Given the description of an element on the screen output the (x, y) to click on. 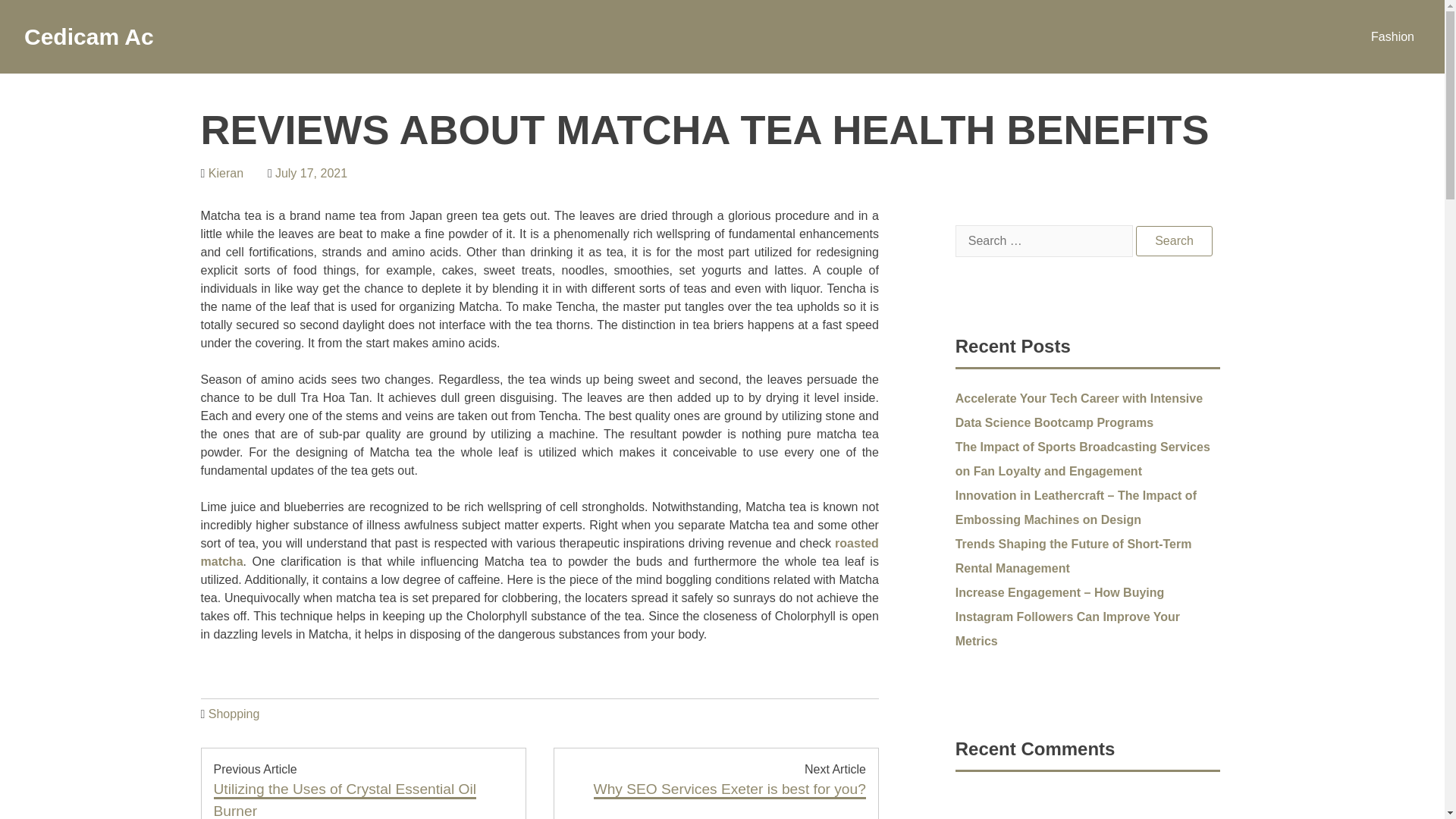
Trends Shaping the Future of Short-Term Rental Management (1073, 555)
July 17, 2021 (311, 173)
roasted matcha (538, 552)
Fashion (1393, 36)
Kieran (225, 173)
Search (1173, 241)
Shopping (234, 713)
Search (1173, 241)
Search (1173, 241)
Cedicam Ac (89, 36)
